Given the description of an element on the screen output the (x, y) to click on. 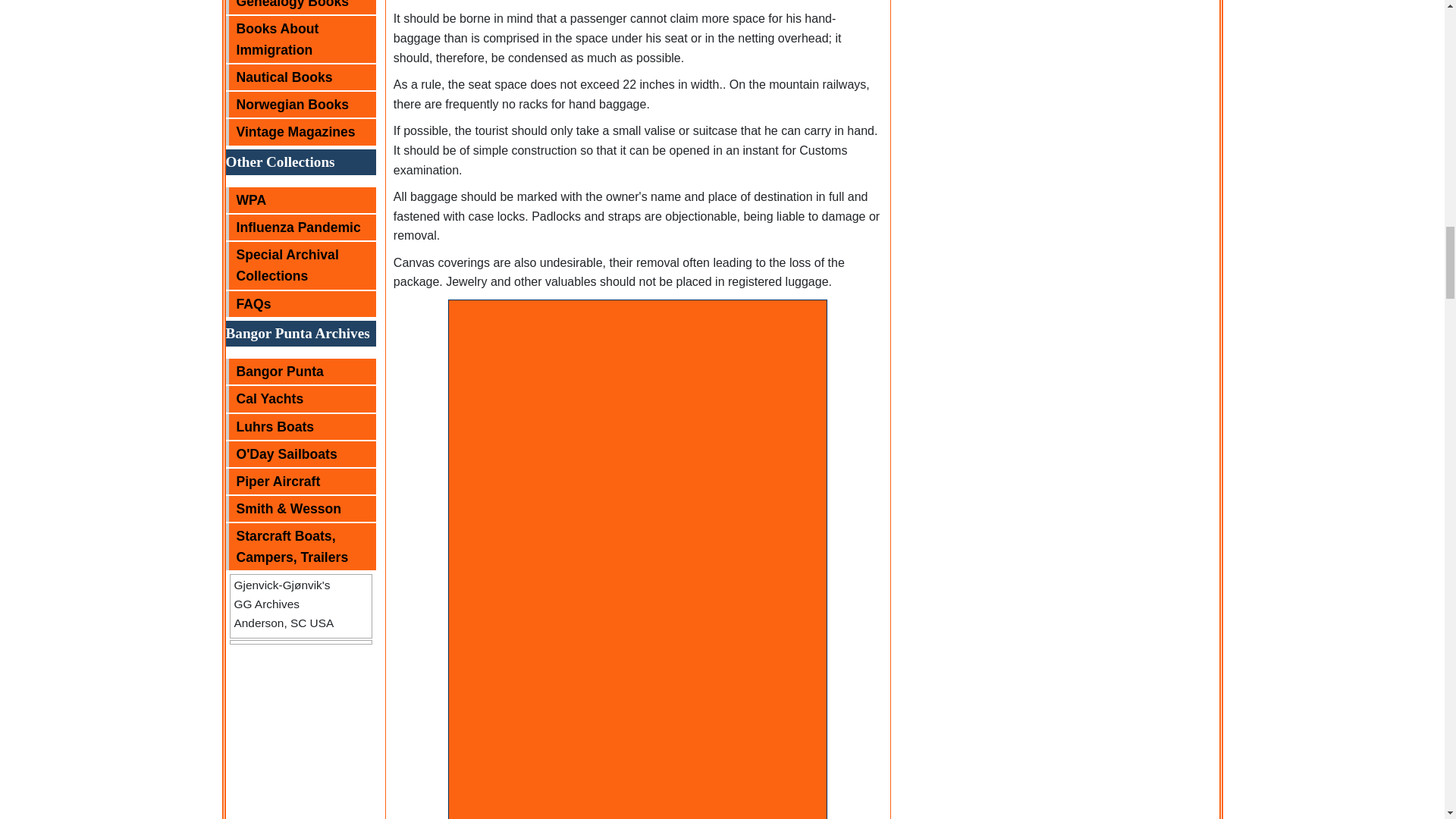
Works Progress Administration (300, 199)
